Given the description of an element on the screen output the (x, y) to click on. 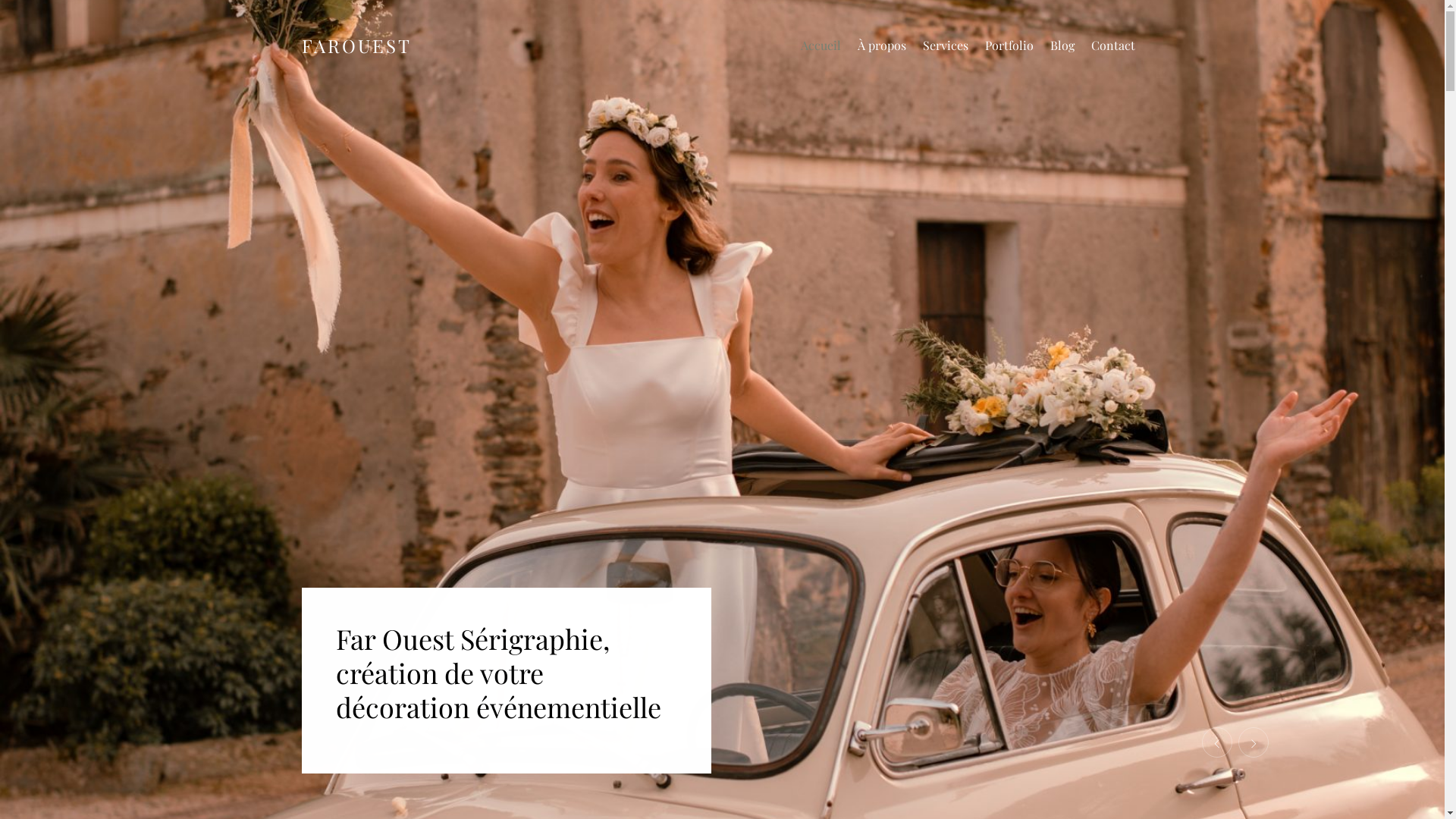
Services Element type: text (944, 45)
FAROUEST Element type: text (356, 45)
Portfolio Element type: text (1008, 45)
Blog Element type: text (1061, 45)
Accueil Element type: text (820, 45)
Contact Element type: text (1112, 45)
